Given the description of an element on the screen output the (x, y) to click on. 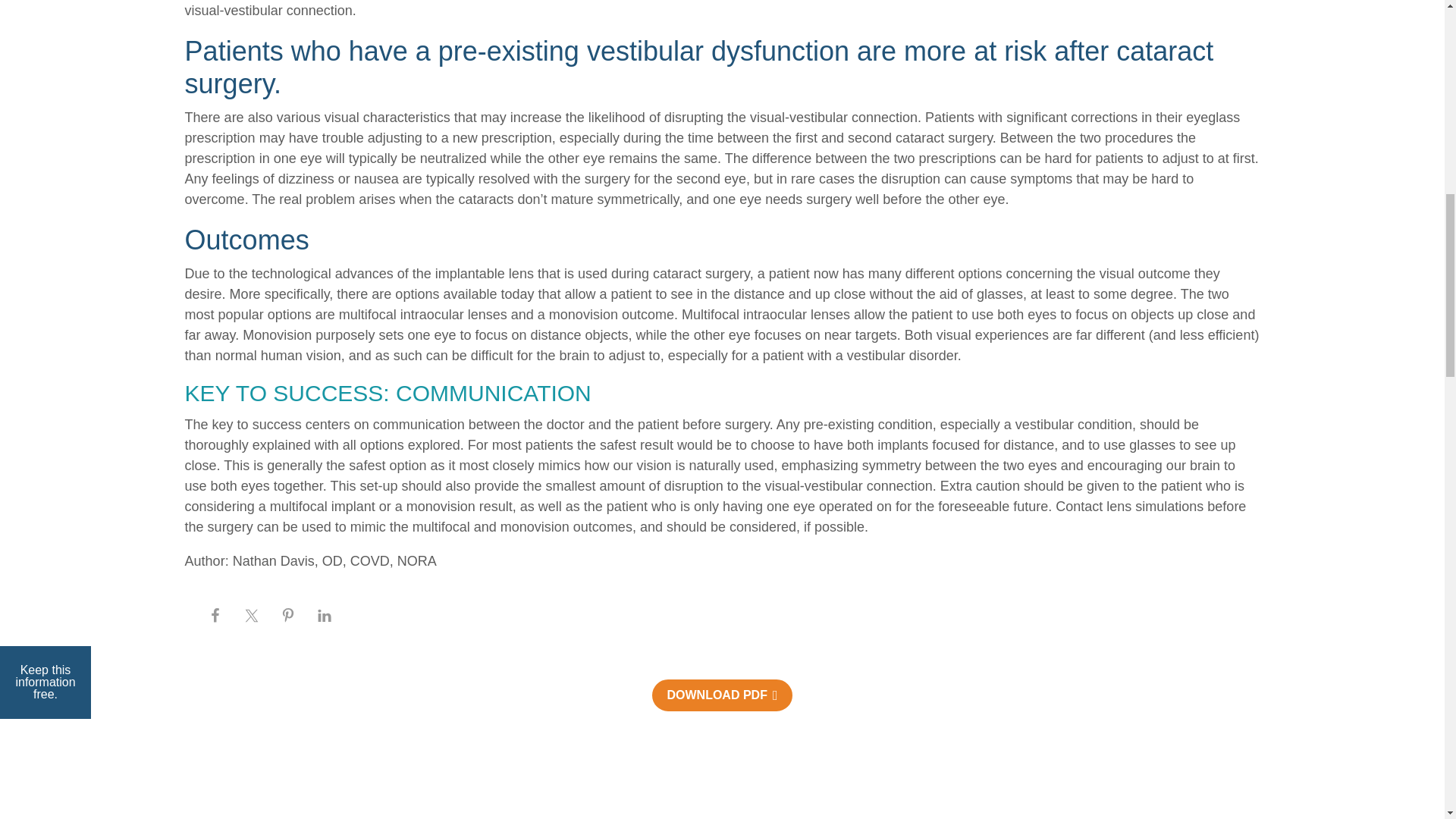
Share on Facebook (721, 616)
Share on Twitter (721, 643)
DOWNLOAD PDF (722, 764)
Share on Pinterest (721, 670)
Share on LinkedIn (721, 698)
